Given the description of an element on the screen output the (x, y) to click on. 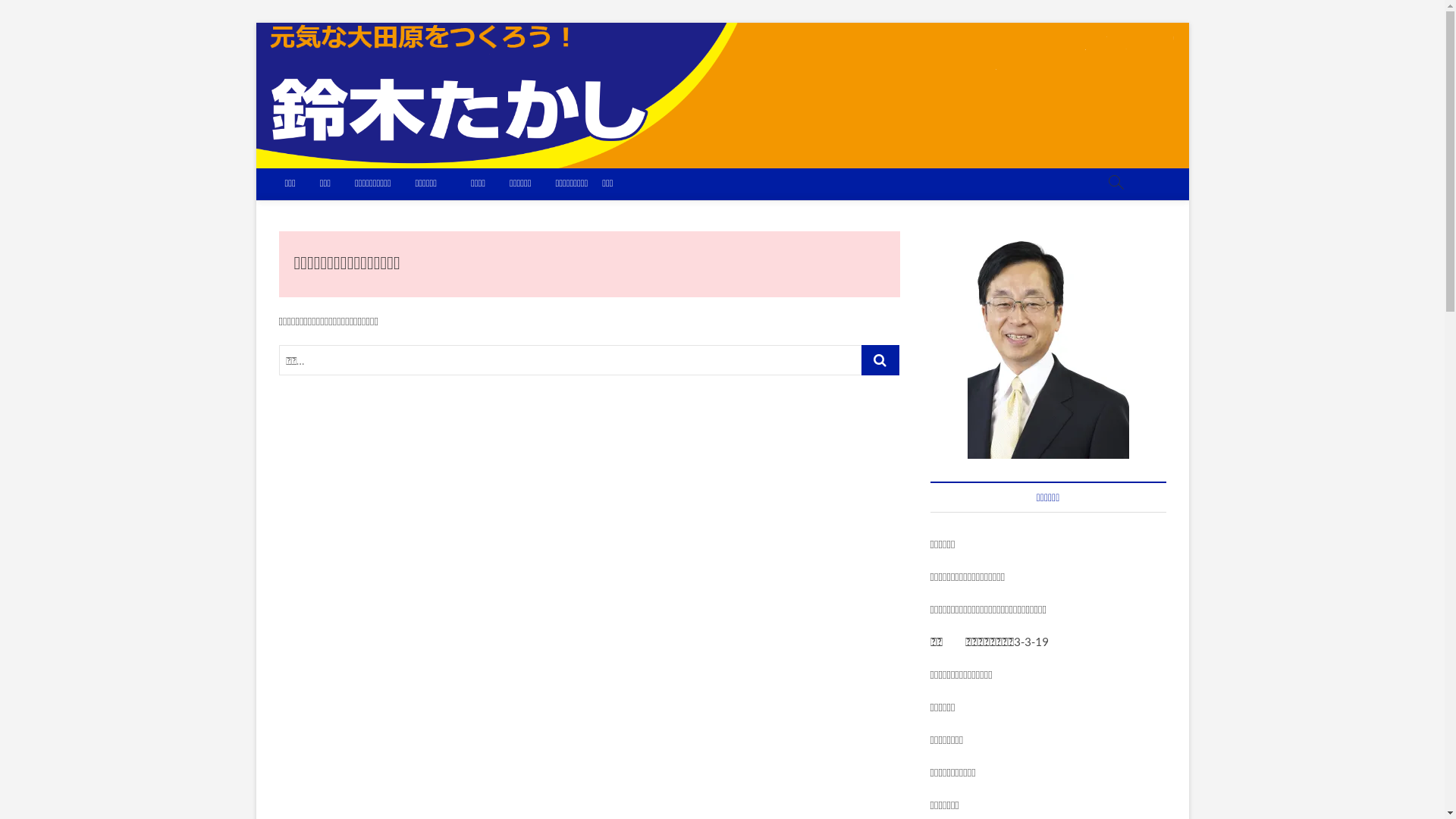
Skip to content Element type: text (254, 21)
